Given the description of an element on the screen output the (x, y) to click on. 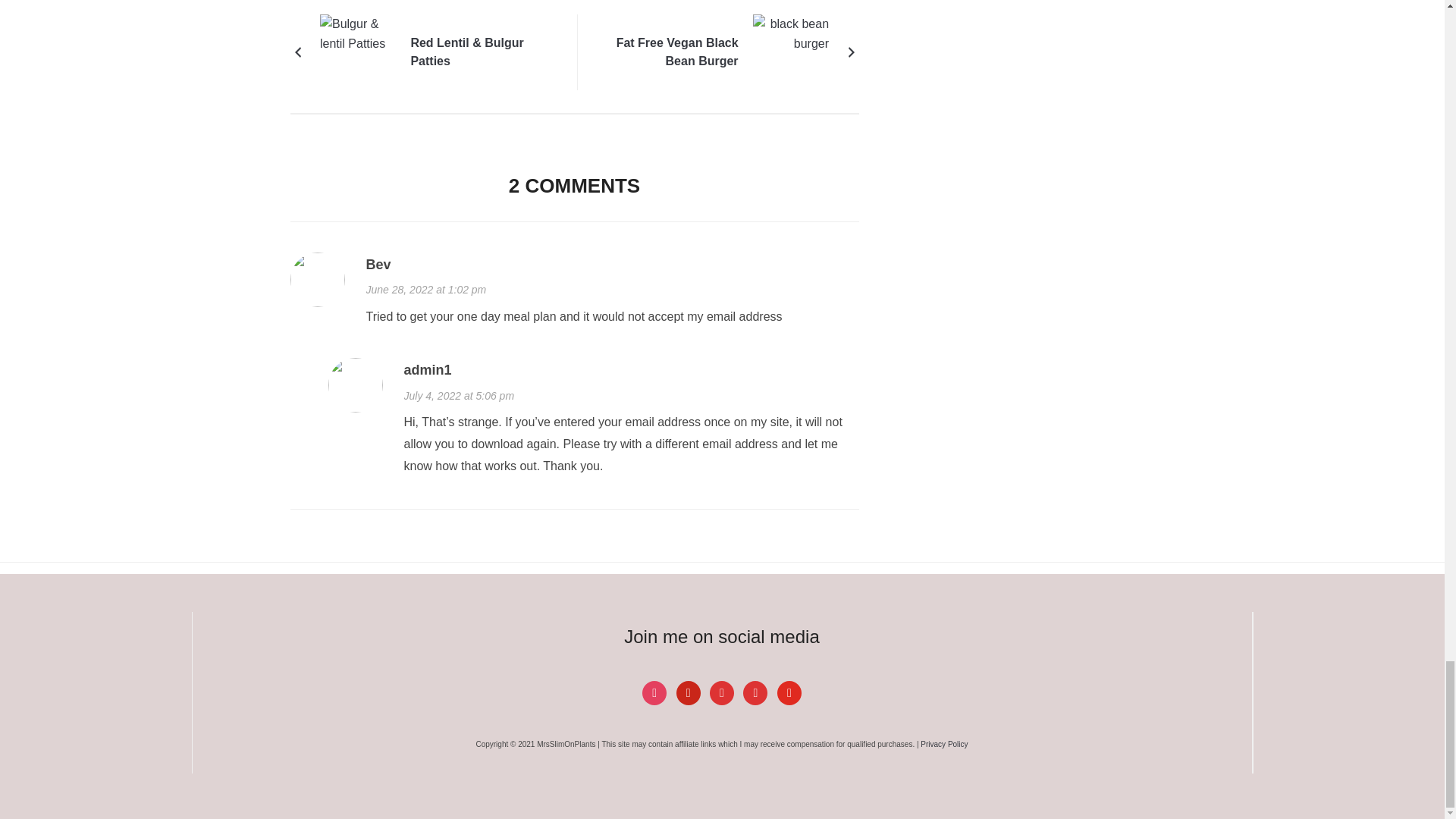
Fat Free Vegan Black Bean Burger (790, 51)
Default Label (688, 691)
Instagram (654, 691)
Fat Free Vegan Black Bean Burger (667, 52)
